Given the description of an element on the screen output the (x, y) to click on. 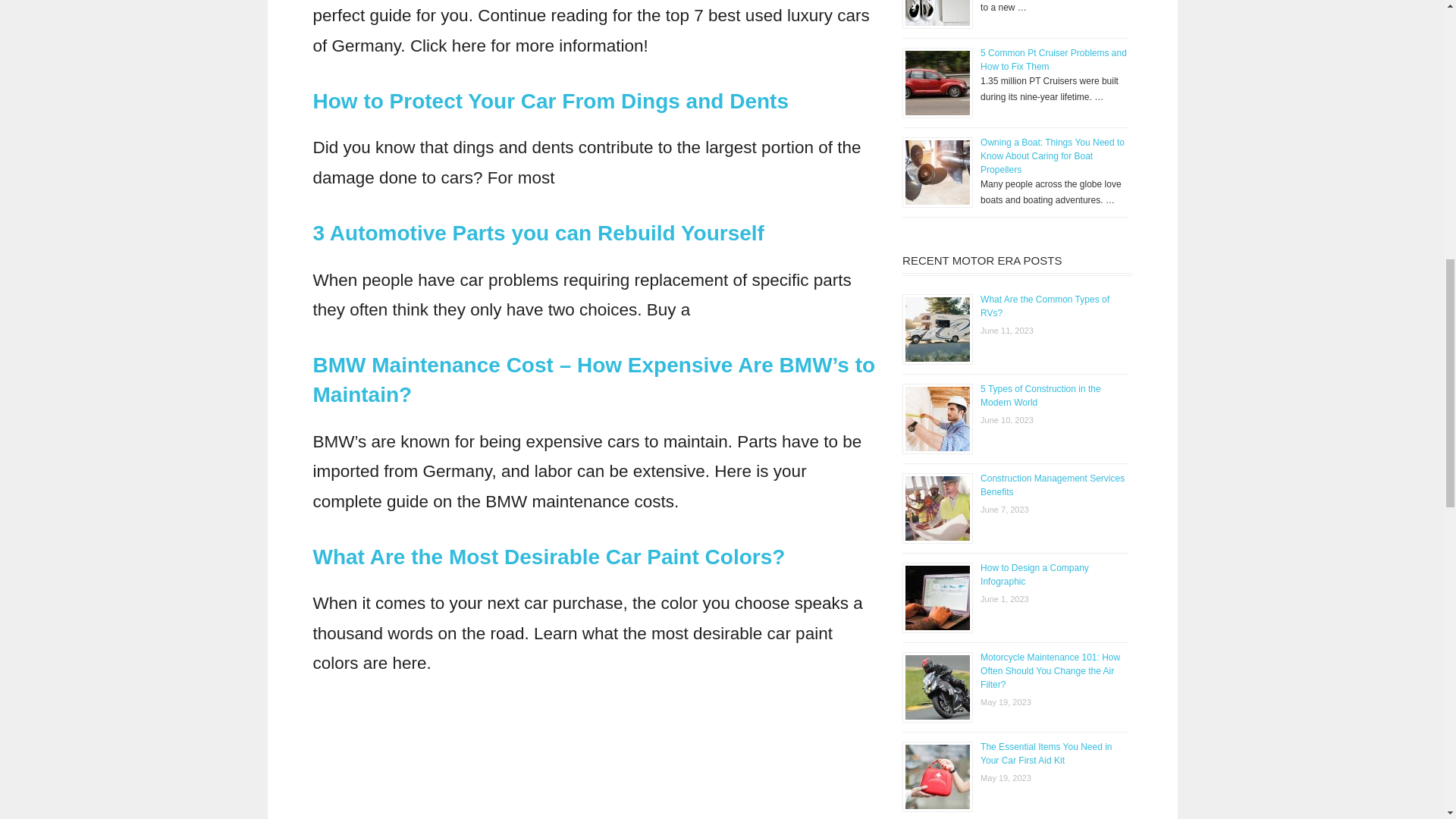
Permalink to 5 Types of Construction in the Modern World (1039, 395)
Permalink to How to Design a Company Infographic (1034, 574)
What Are the Most Desirable Car Paint Colors? (548, 556)
5 Common Pt Cruiser Problems and How to Fix Them (1052, 59)
How to Protect Your Car From Dings and Dents (550, 101)
3 Automotive Parts you can Rebuild Yourself (537, 232)
